Given the description of an element on the screen output the (x, y) to click on. 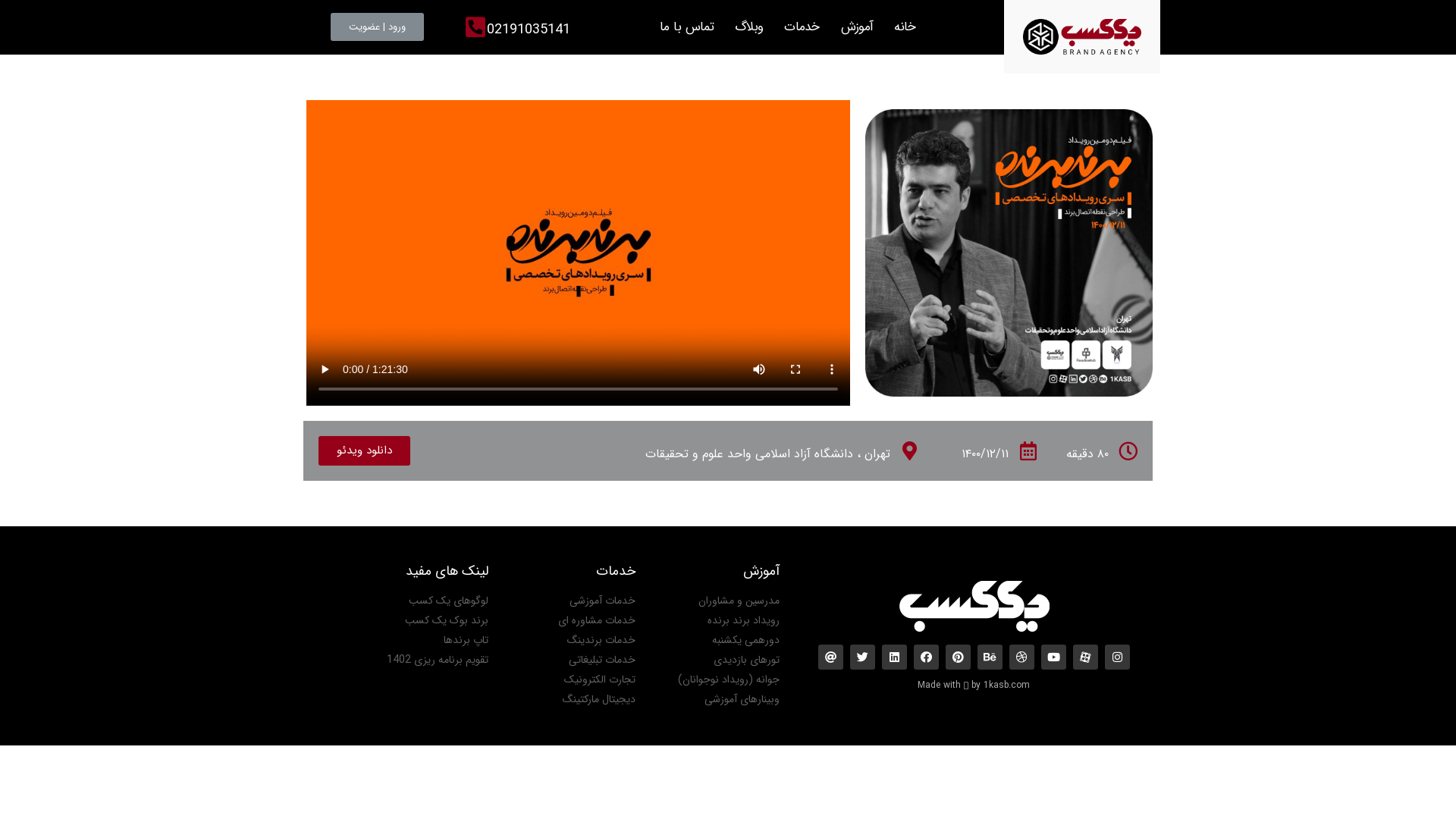
02191035141 Element type: text (528, 29)
